Given the description of an element on the screen output the (x, y) to click on. 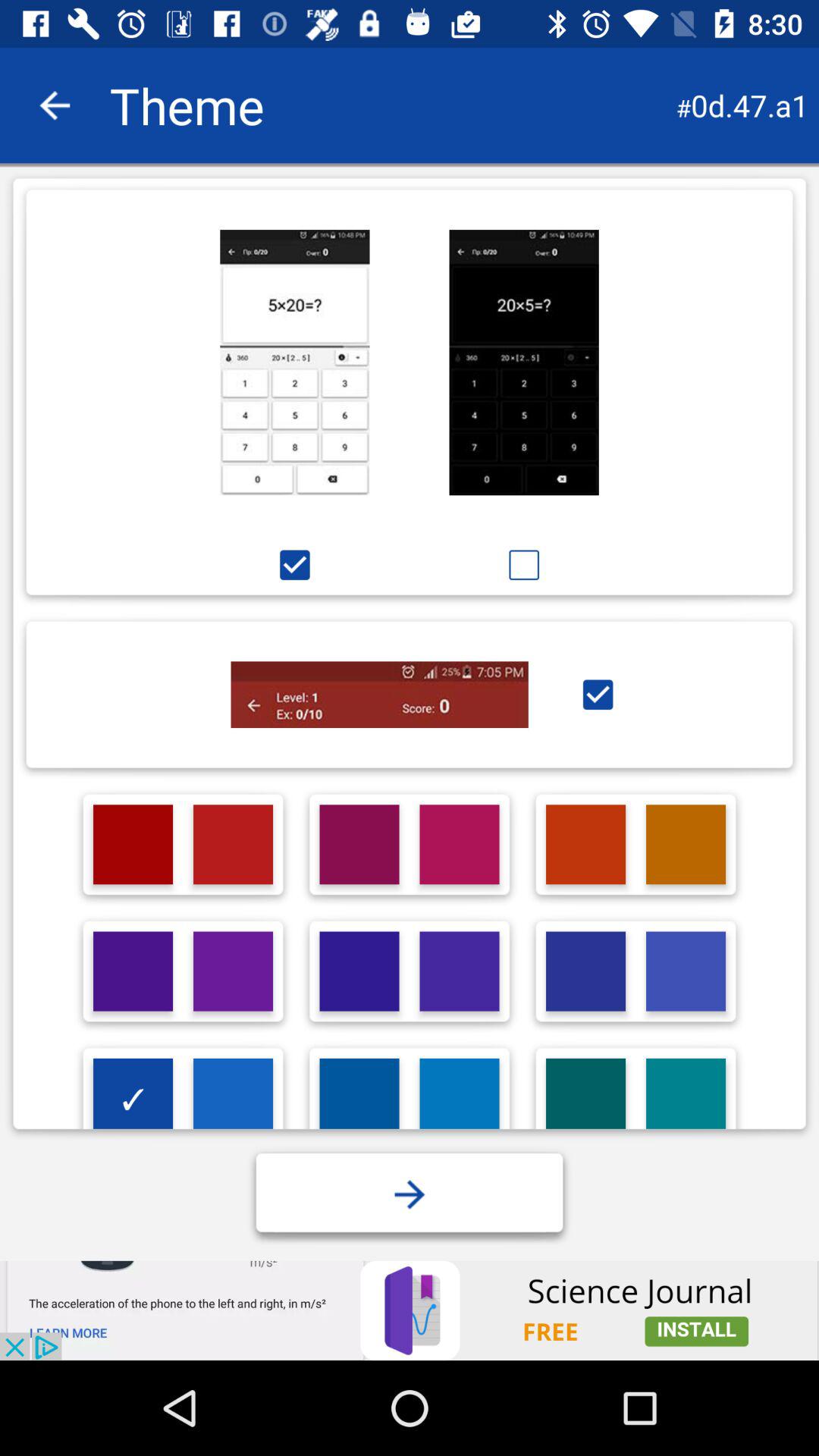
choose color (459, 971)
